Given the description of an element on the screen output the (x, y) to click on. 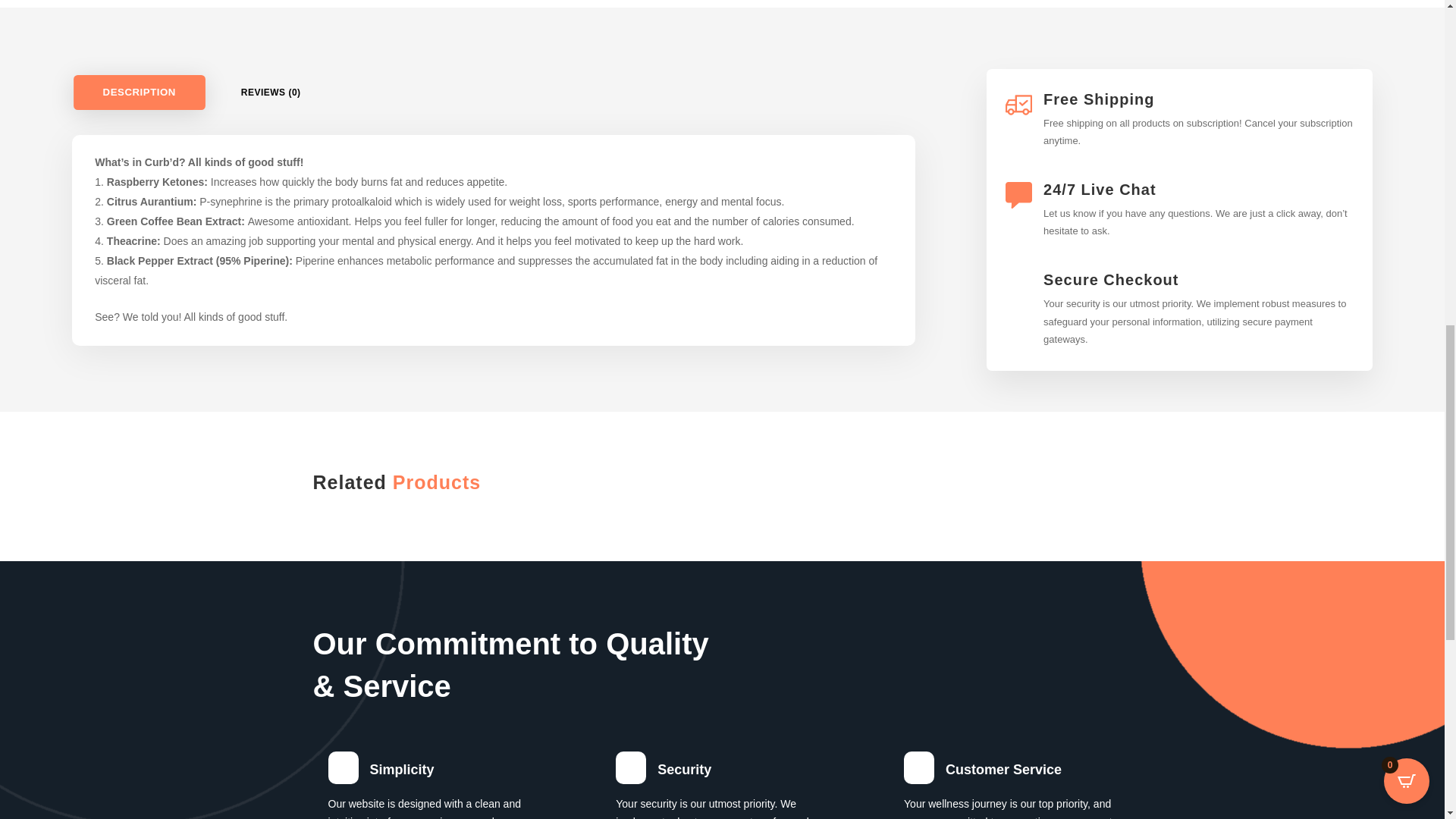
DESCRIPTION (133, 91)
